Given the description of an element on the screen output the (x, y) to click on. 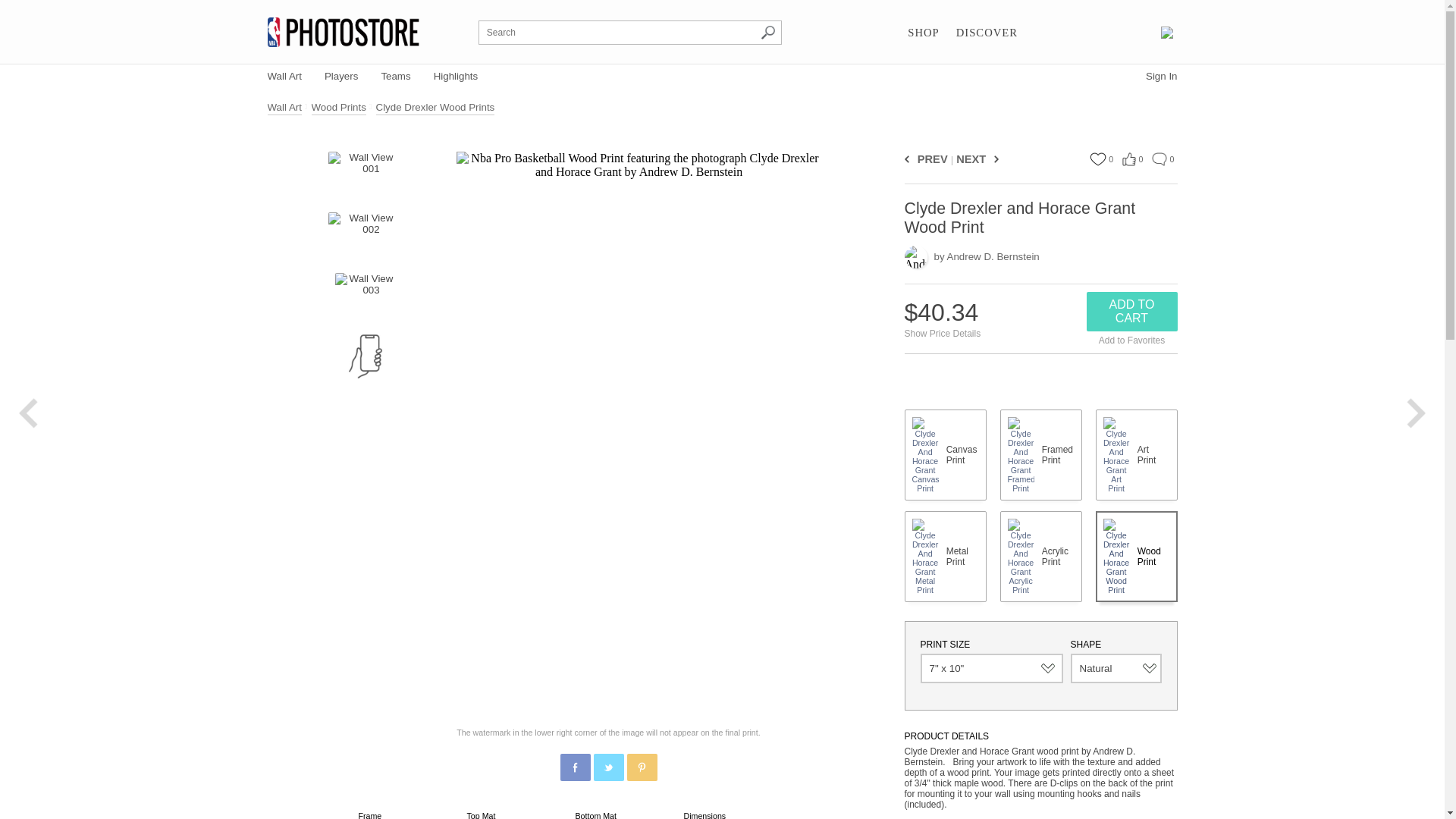
Comment (1158, 159)
Launch Mobile App (365, 356)
Pinterest (642, 767)
Twitter (609, 767)
Search (767, 32)
SHOP (922, 32)
Facebook (575, 767)
Share Product on Pinterest (641, 767)
Share Product on Twitter (607, 767)
Wall View 001 (365, 174)
